Given the description of an element on the screen output the (x, y) to click on. 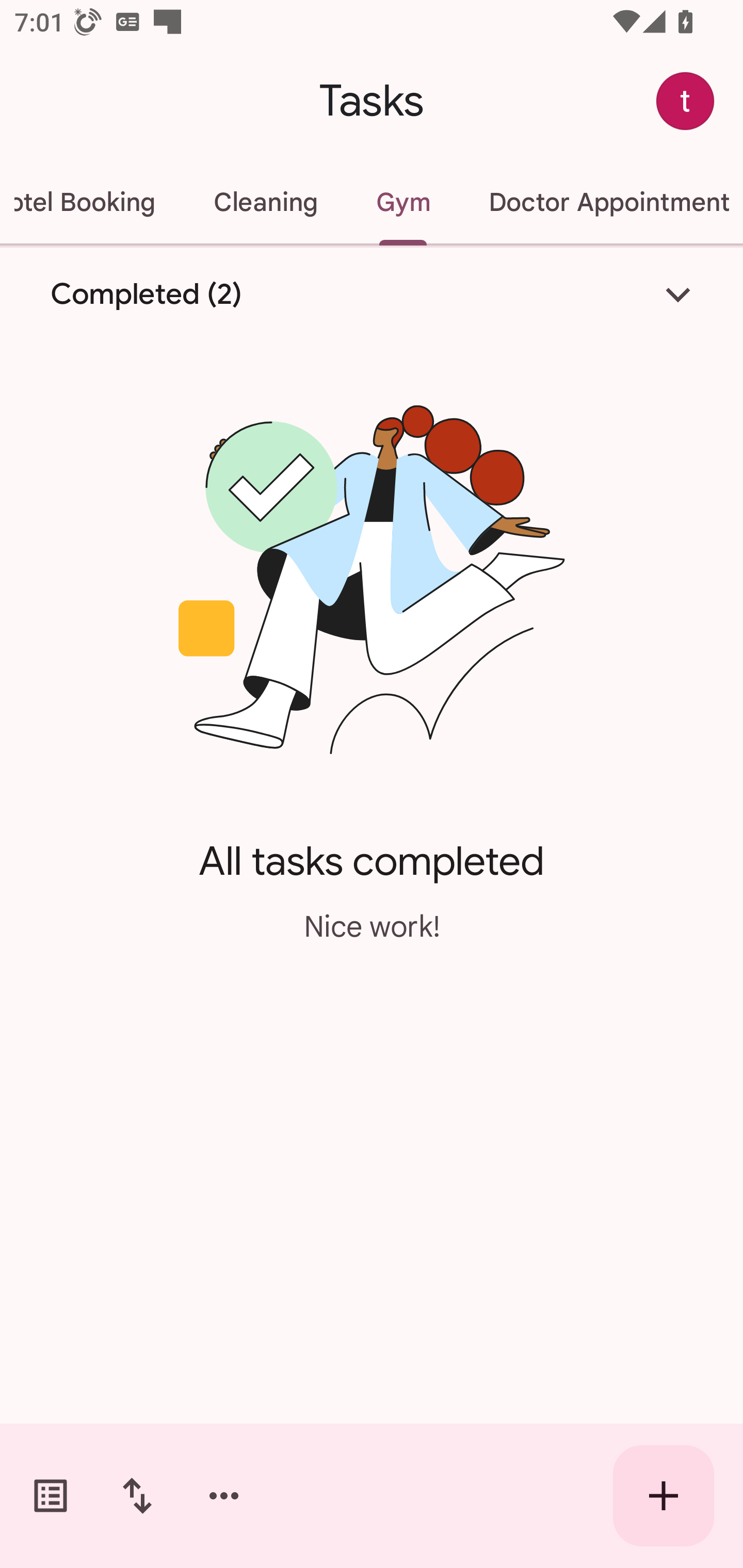
Cleaning (265, 202)
Doctor Appointment (601, 202)
Completed (2) (371, 294)
Switch task lists (50, 1495)
Create new task (663, 1495)
Change sort order (136, 1495)
More options (223, 1495)
